Given the description of an element on the screen output the (x, y) to click on. 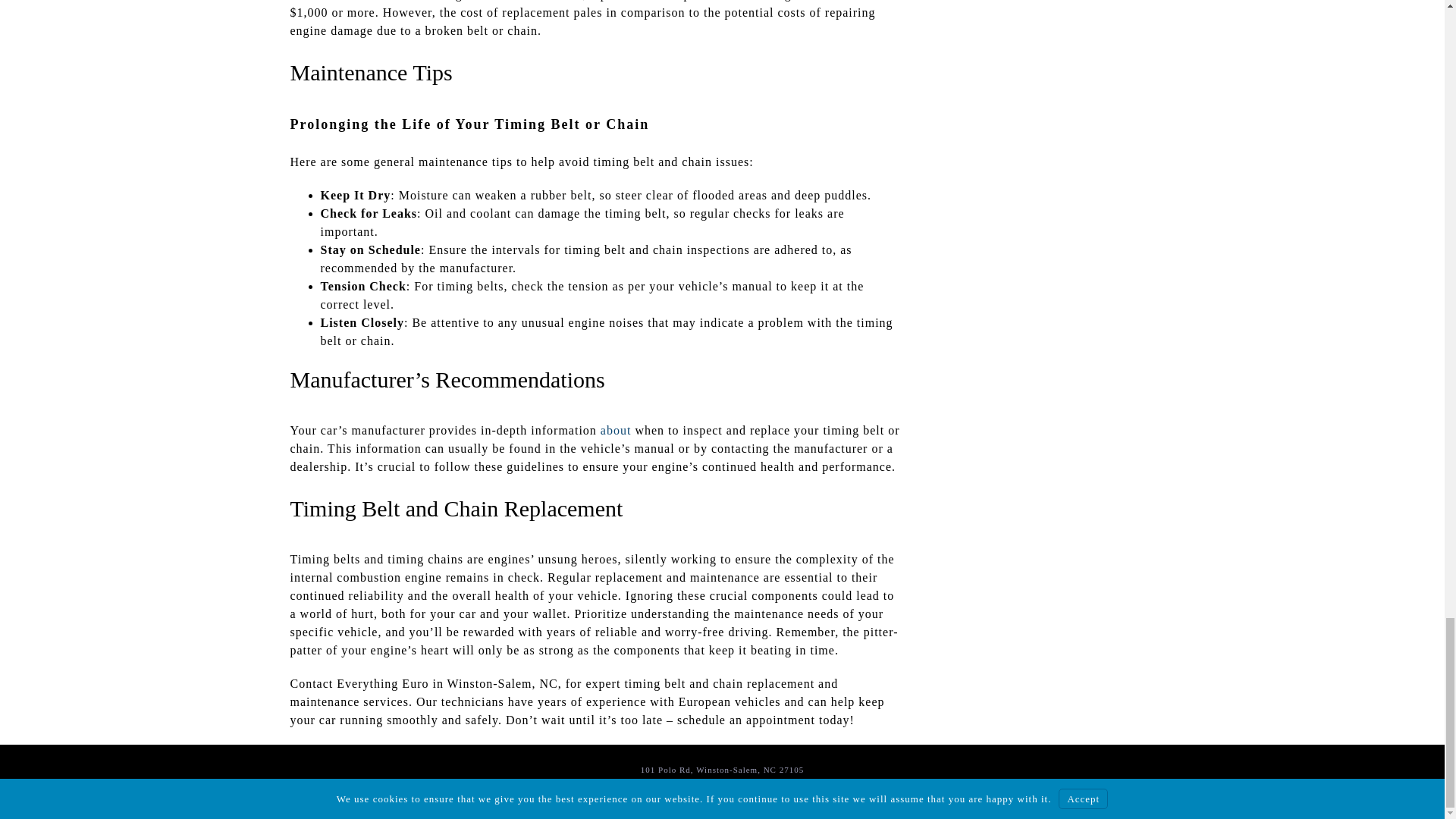
about (615, 430)
